Given the description of an element on the screen output the (x, y) to click on. 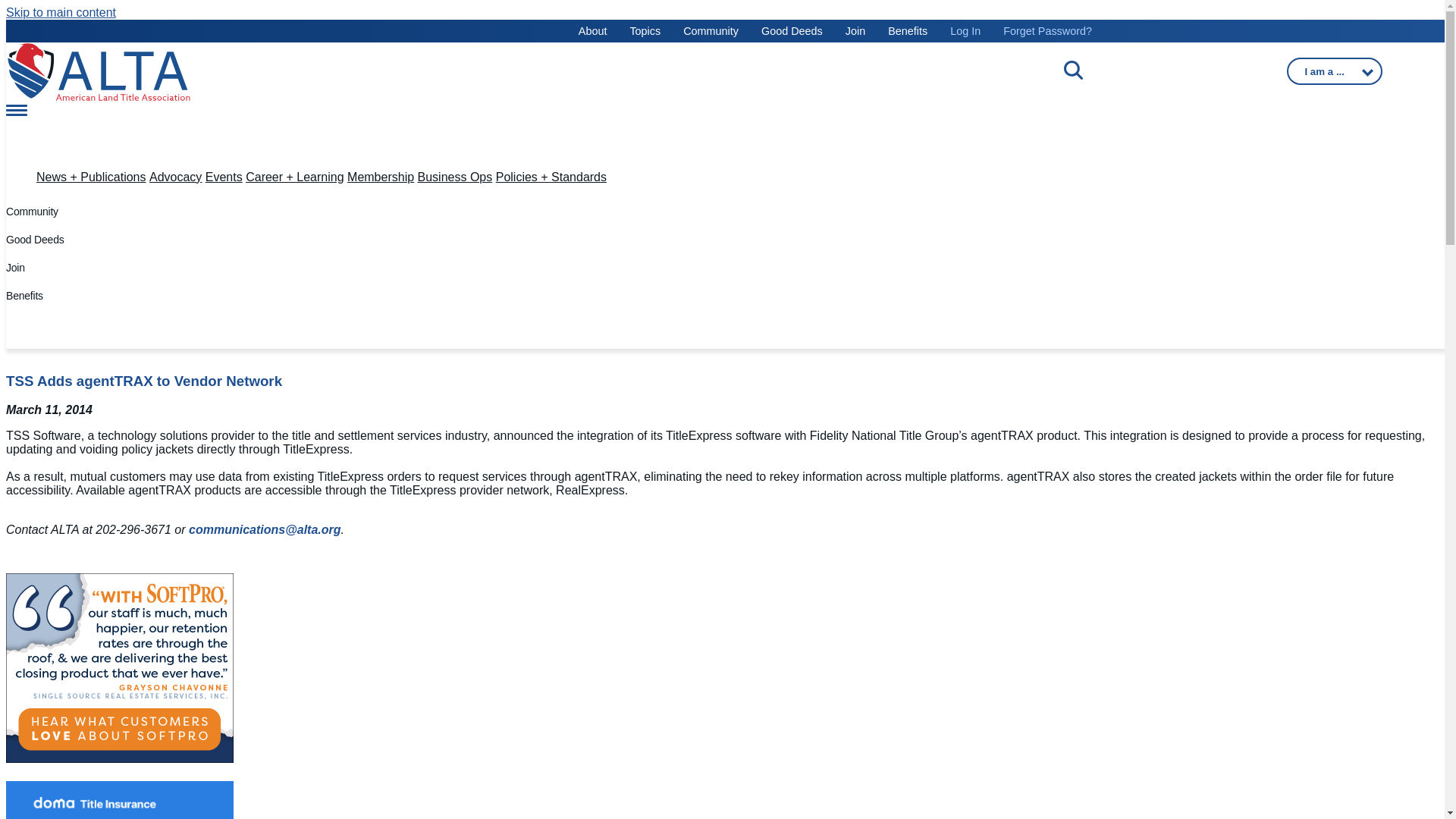
Skip to main content (60, 11)
Good Deeds (791, 30)
Forget Password? (1047, 30)
Benefits (907, 30)
Community (710, 30)
I am a ... (1334, 71)
Topics (644, 30)
About (592, 30)
Search (245, 62)
Join (854, 30)
Log In (964, 30)
